Given the description of an element on the screen output the (x, y) to click on. 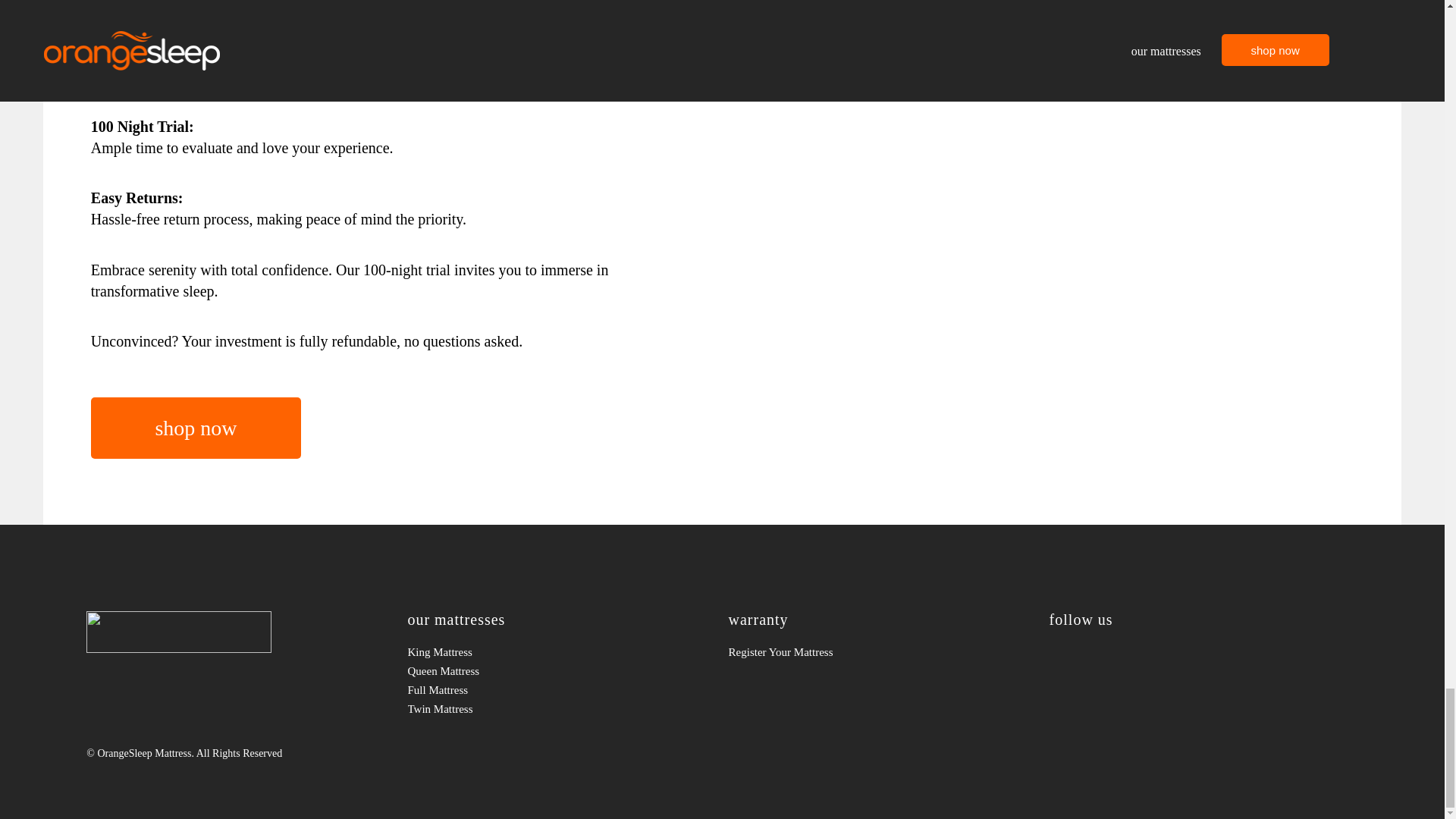
Twin Mattress (561, 709)
Full Mattress (561, 690)
King Mattress (561, 651)
Queen Mattress (561, 670)
Register Your Mattress (882, 651)
shop now (195, 428)
